Given the description of an element on the screen output the (x, y) to click on. 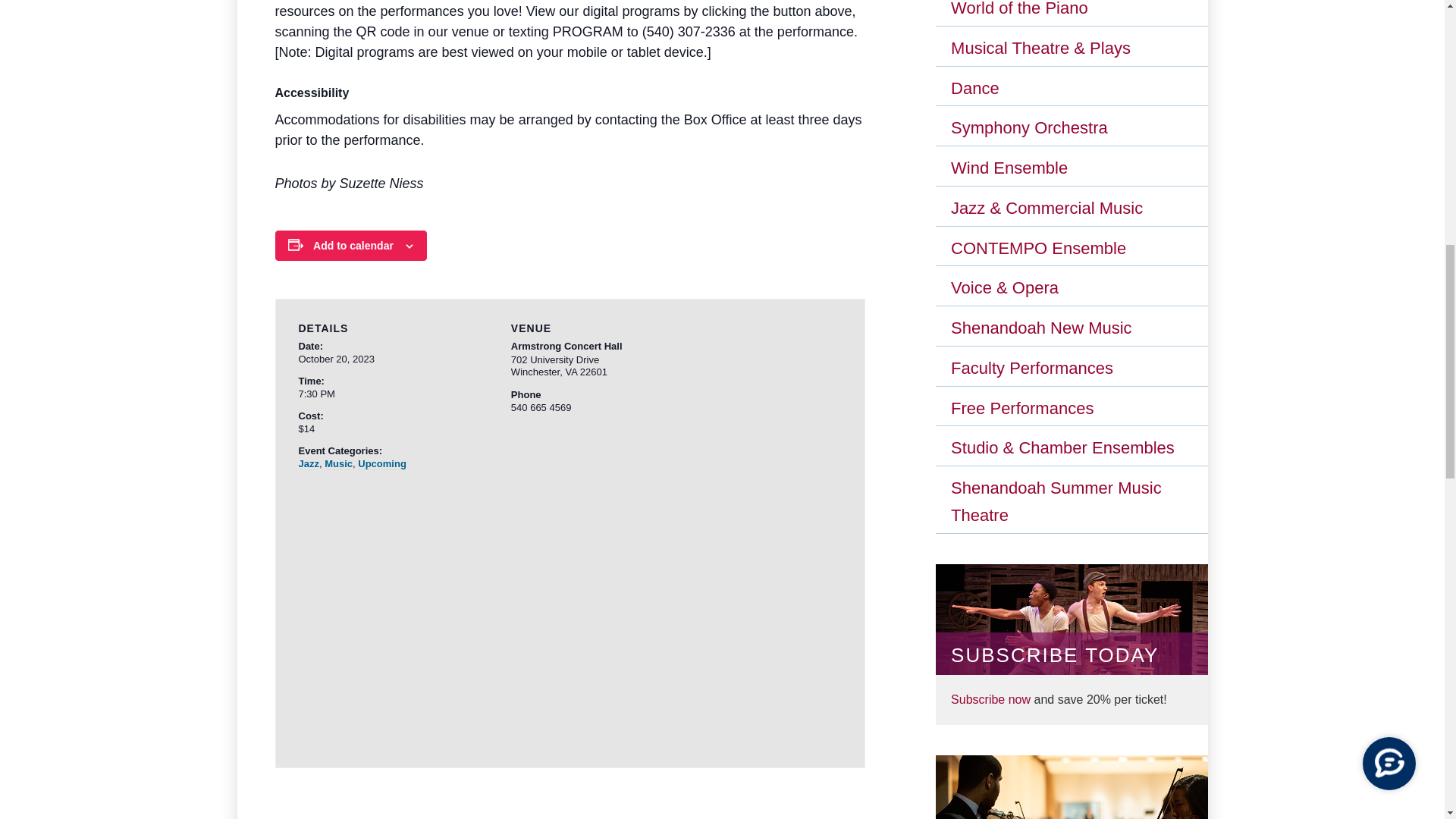
2023-10-20 (336, 358)
2023-10-20 (372, 393)
Virginia (570, 371)
